Given the description of an element on the screen output the (x, y) to click on. 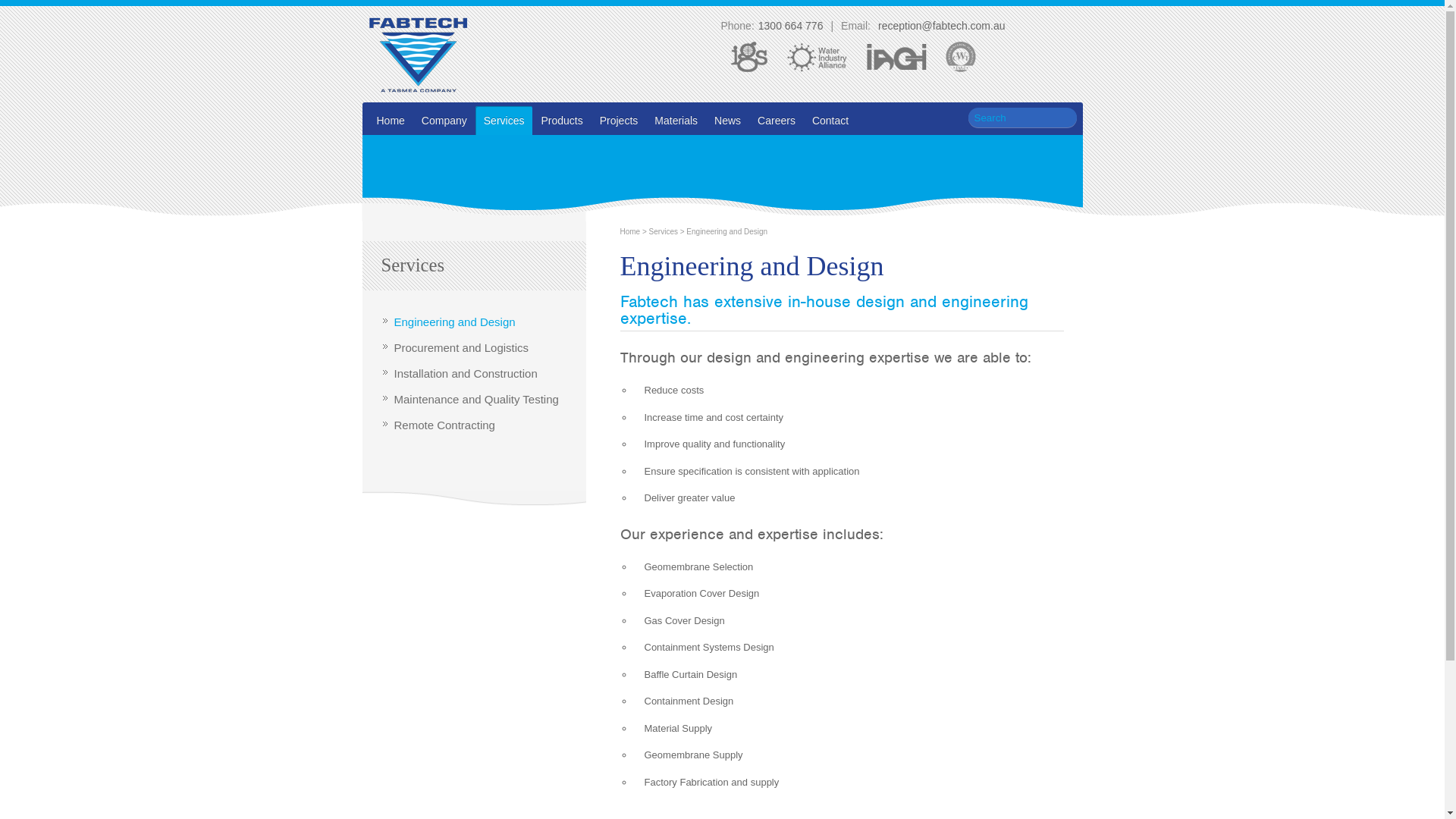
Installation and Construction Element type: text (465, 373)
Home Element type: text (390, 120)
Contact Element type: text (830, 120)
Careers Element type: text (776, 120)
Engineering and Design Element type: text (454, 321)
Projects Element type: text (618, 120)
Services Element type: text (503, 120)
Remote Contracting Element type: text (444, 424)
Products Element type: text (561, 120)
Services Element type: text (663, 231)
reception@fabtech.com.au Element type: text (939, 25)
News Element type: text (727, 120)
Procurement and Logistics Element type: text (461, 347)
Geomembrane Liners Element type: hover (417, 55)
Company Element type: text (444, 120)
Materials Element type: text (675, 120)
Maintenance and Quality Testing Element type: text (476, 398)
Home Element type: text (630, 231)
